Given the description of an element on the screen output the (x, y) to click on. 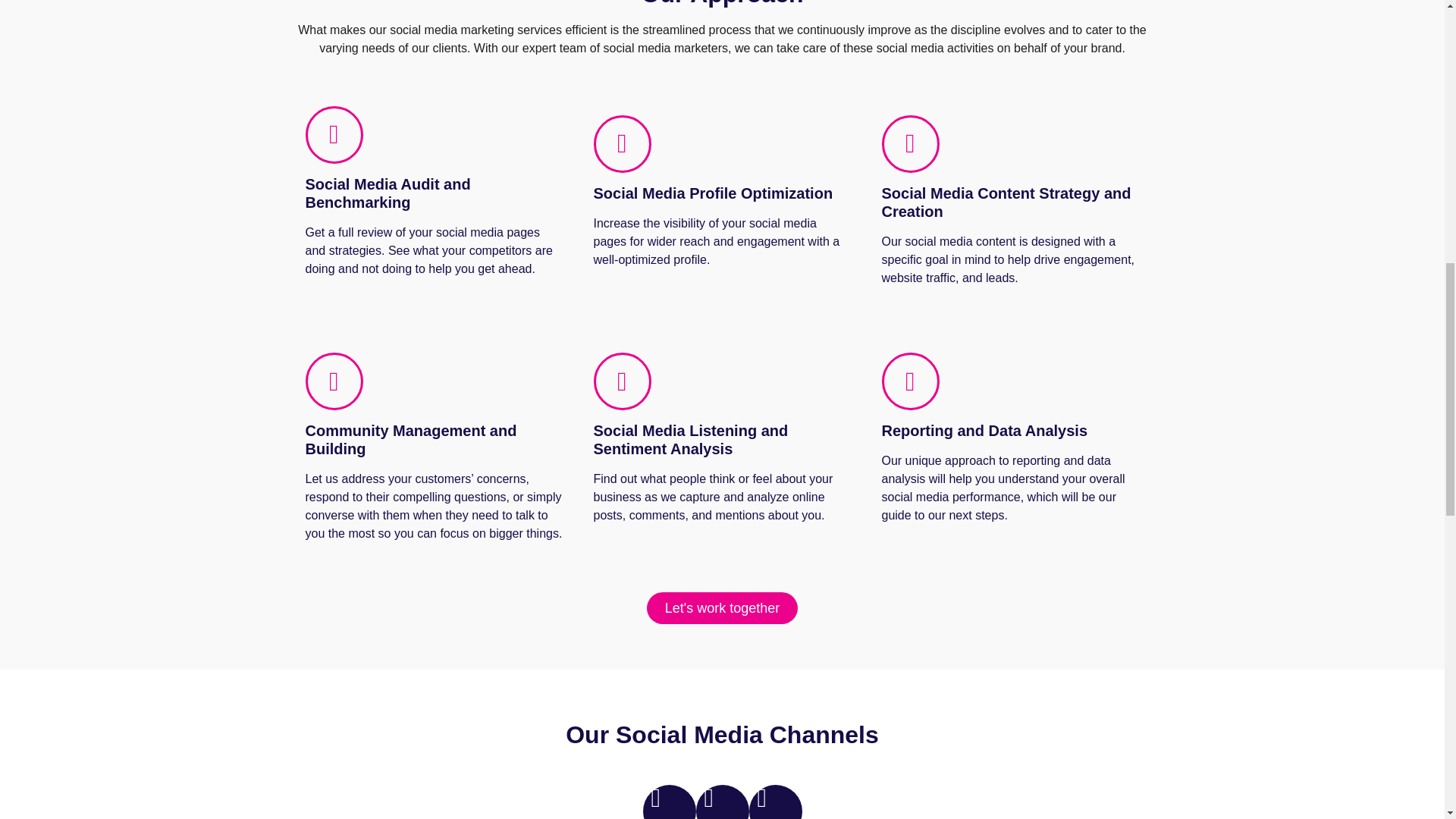
Let's work together (721, 608)
